Given the description of an element on the screen output the (x, y) to click on. 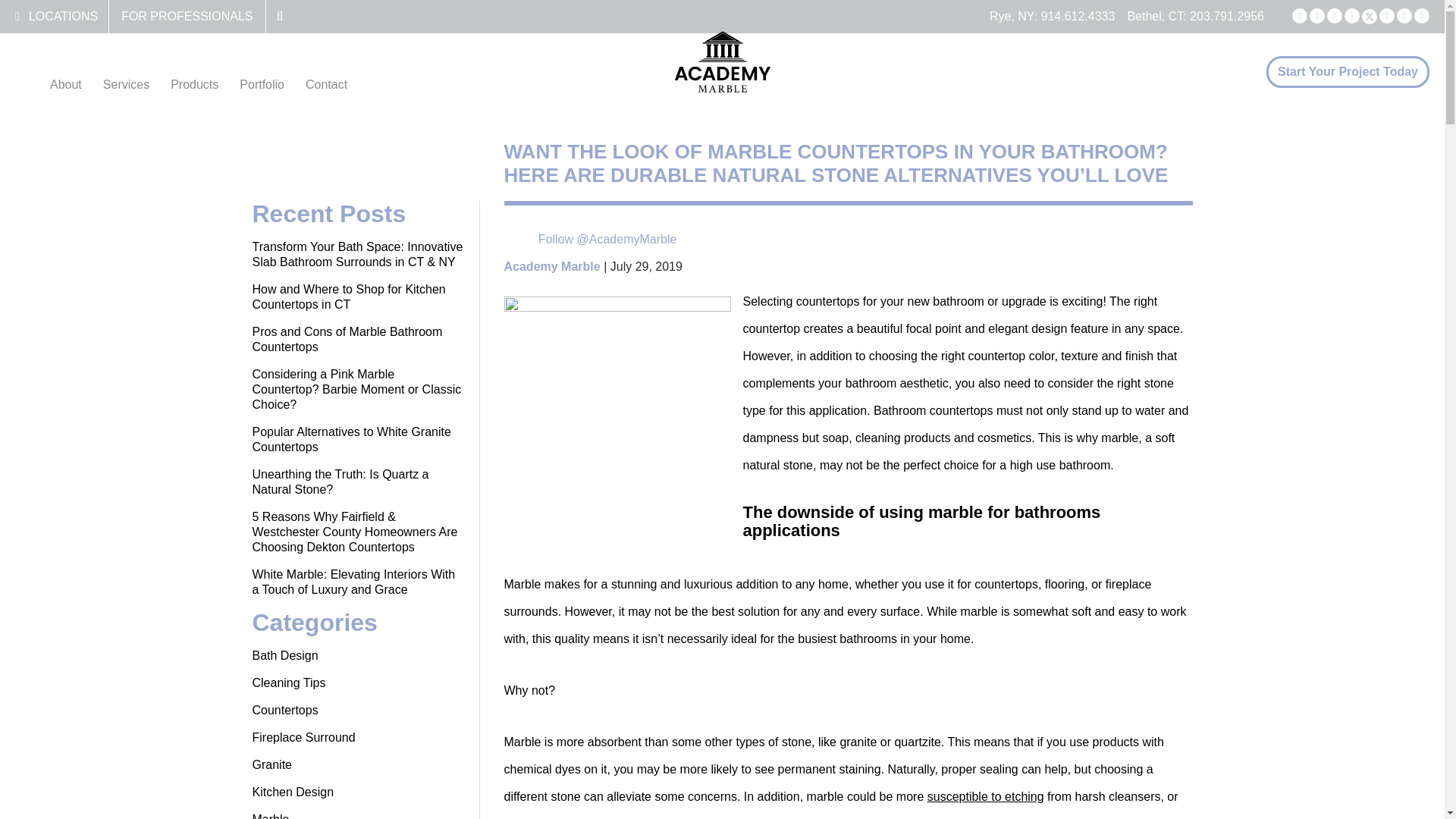
FOR PROFESSIONALS (185, 15)
LOCATIONS (63, 15)
203.791.2956 (1226, 15)
914.612.4333 (1078, 15)
